Given the description of an element on the screen output the (x, y) to click on. 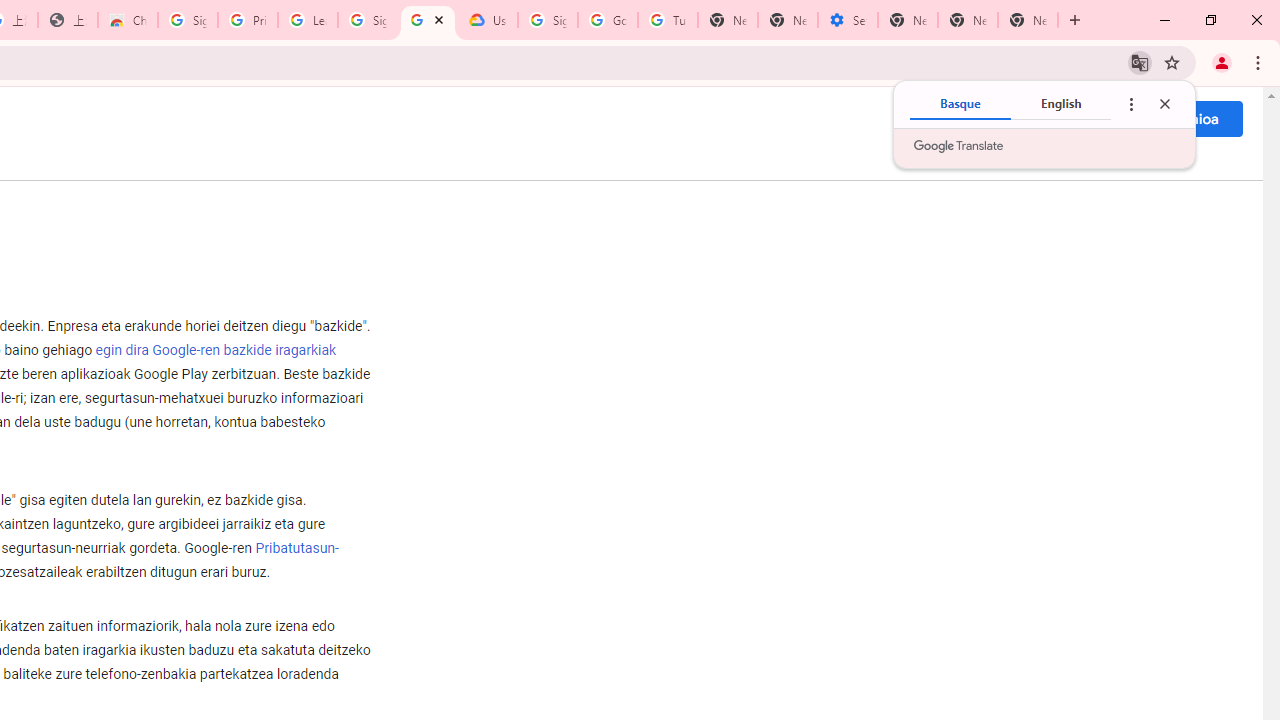
New Tab (1028, 20)
Sign in - Google Accounts (187, 20)
Basque (960, 103)
Translate options (1130, 103)
English (1061, 103)
